Given the description of an element on the screen output the (x, y) to click on. 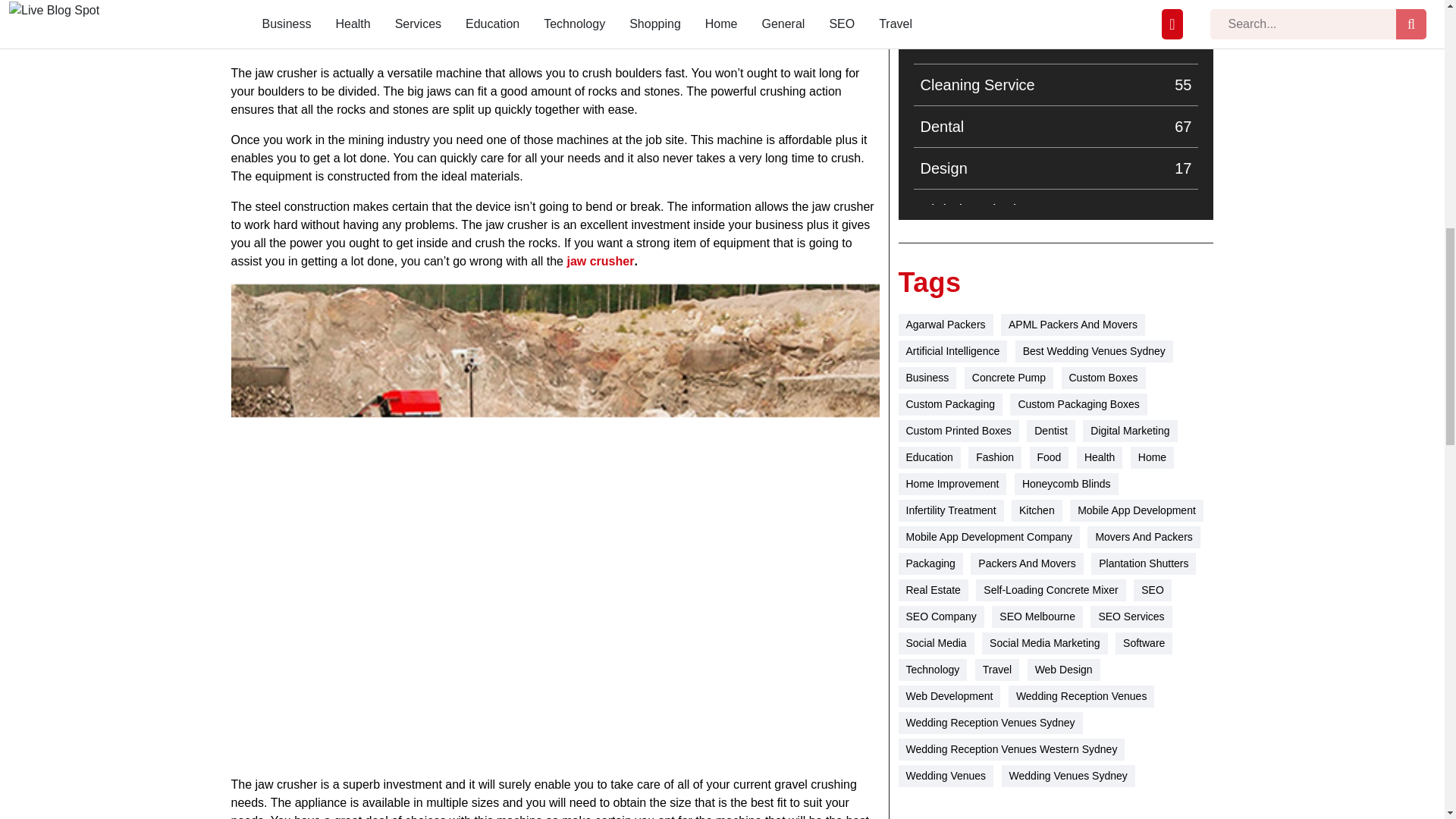
jaw crusher (1056, 334)
jaw crusher (1056, 42)
